Given the description of an element on the screen output the (x, y) to click on. 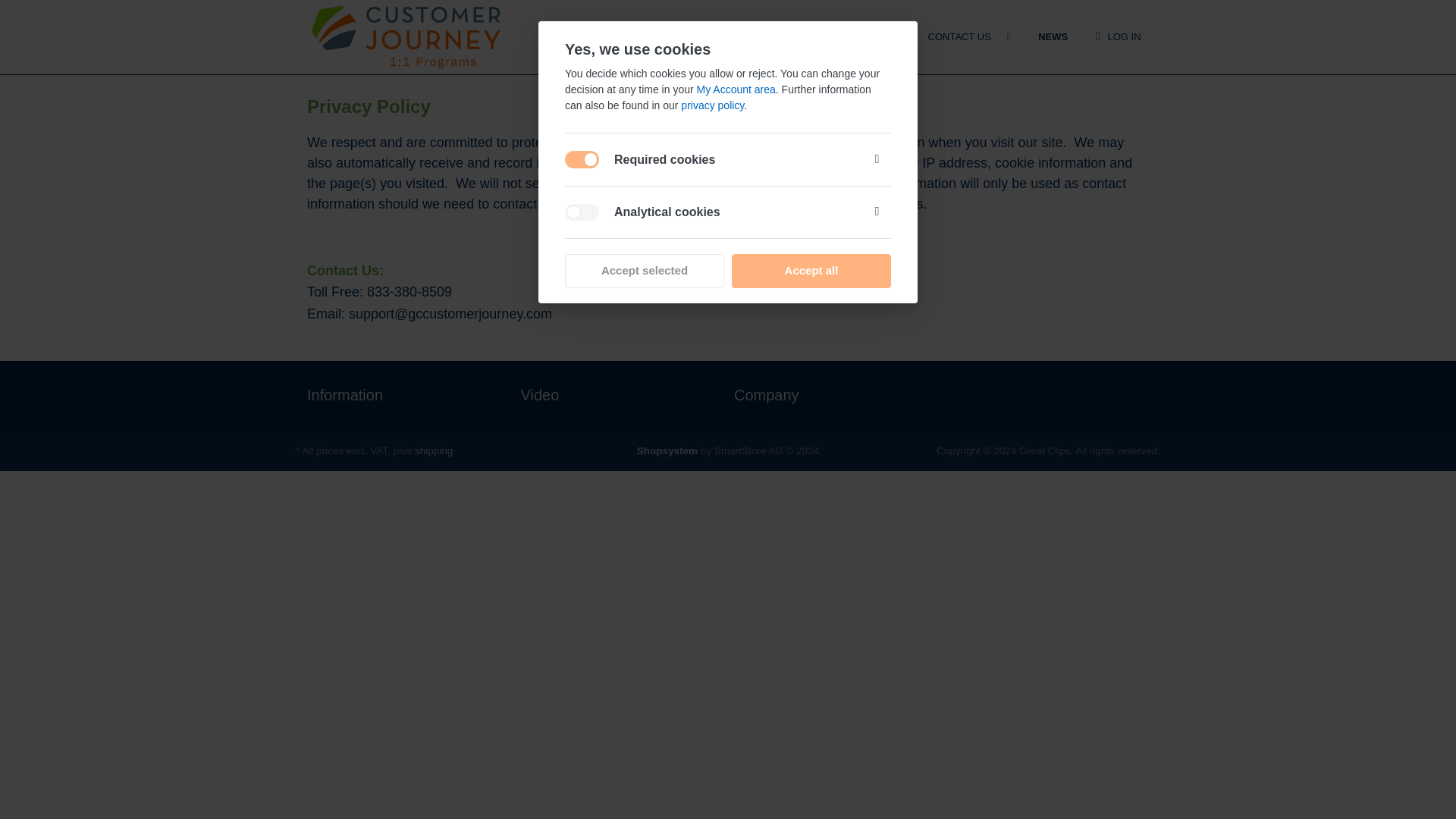
Accept selected (643, 270)
Accept all (811, 270)
NEWS (1052, 36)
My Account area (736, 89)
CONTACT US (959, 36)
shipping (433, 450)
privacy policy (712, 105)
Shopsystem (667, 450)
LOG IN (1117, 36)
Great Clips (405, 36)
